Given the description of an element on the screen output the (x, y) to click on. 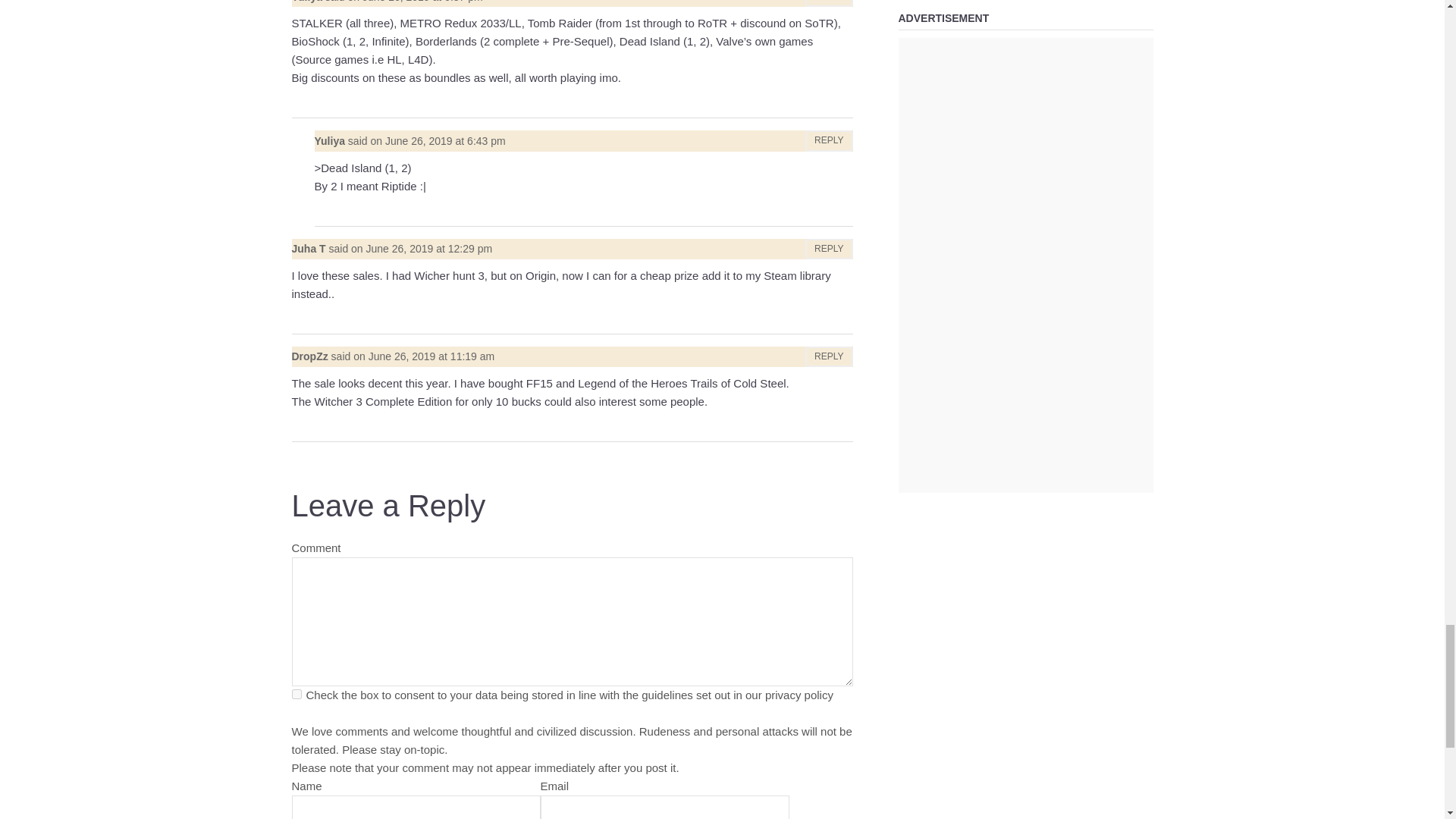
privacy-key (296, 694)
